Given the description of an element on the screen output the (x, y) to click on. 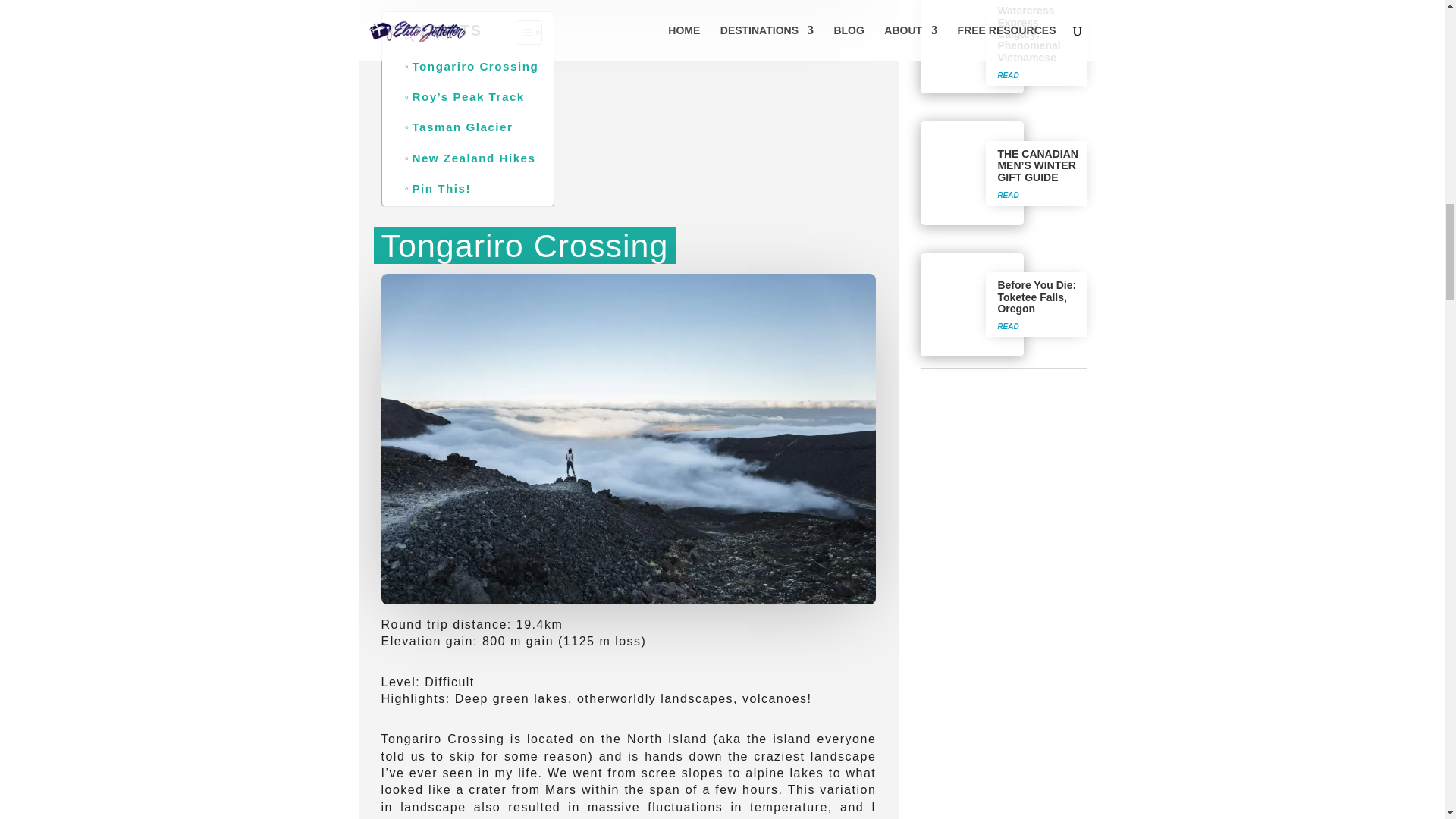
Pin This! (437, 188)
Tongariro Crossing (471, 66)
New Zealand Hikes (469, 158)
Tasman Glacier (458, 126)
